Given the description of an element on the screen output the (x, y) to click on. 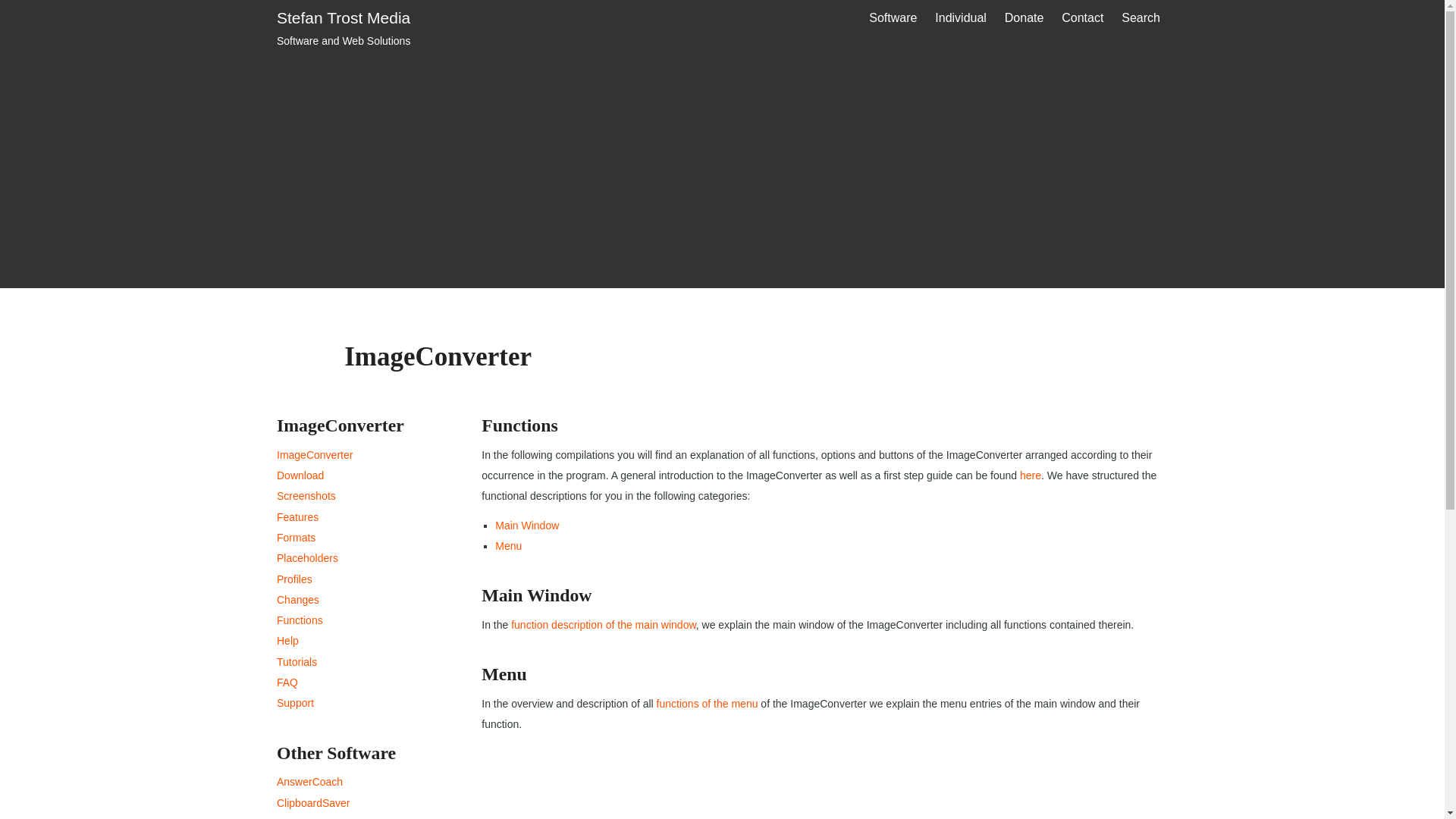
Search (1140, 17)
ImageConverter (314, 454)
Formats (295, 537)
Contact (1082, 17)
Software (892, 17)
Changes (297, 599)
Donate (343, 29)
Placeholders (1024, 17)
Individual (306, 558)
AnswerCoach (960, 17)
Screenshots (309, 781)
EasyMusicPlayer (306, 495)
Tutorials (317, 818)
Help (296, 662)
